Given the description of an element on the screen output the (x, y) to click on. 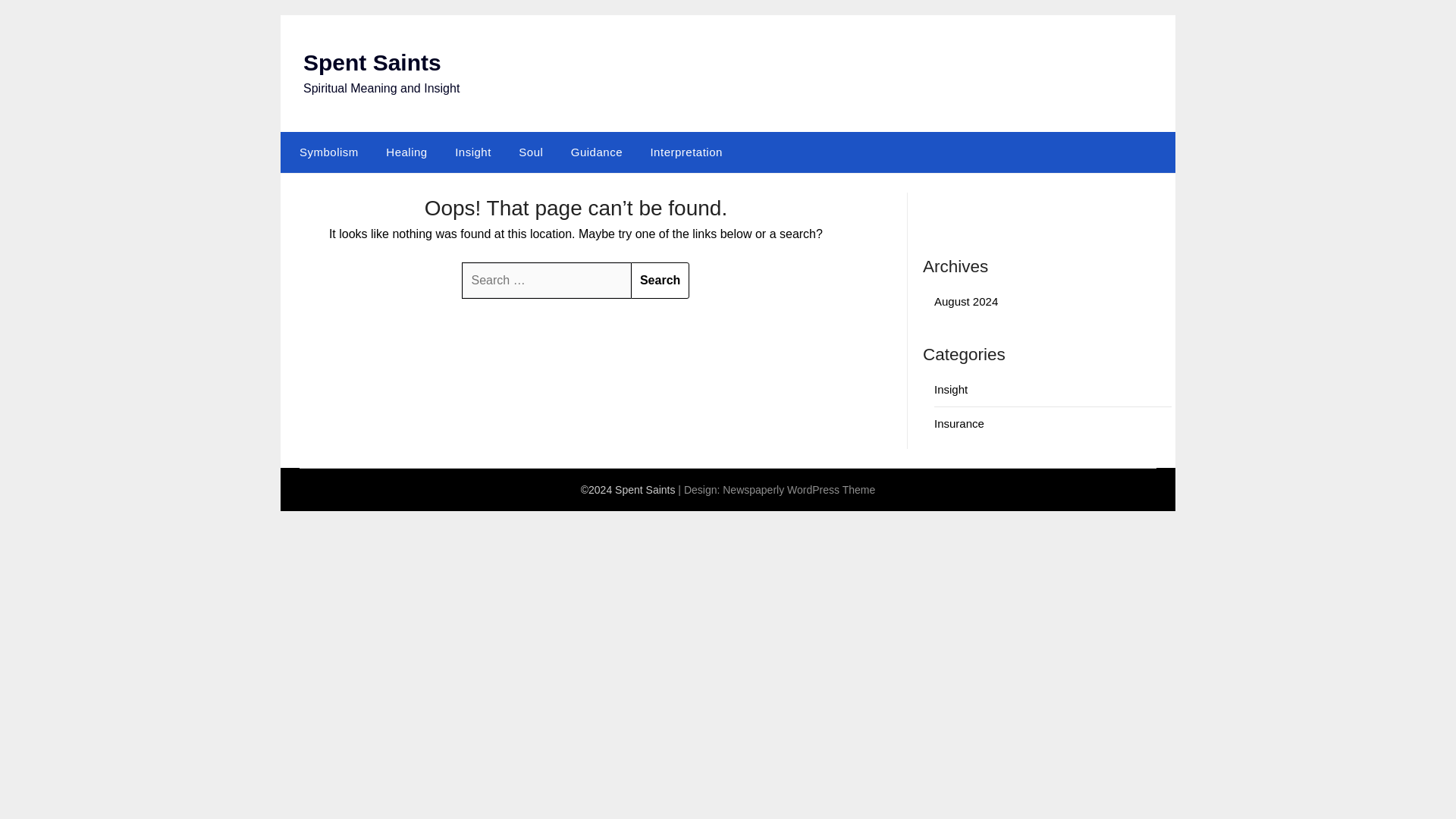
Insurance (959, 422)
Newspaperly WordPress Theme (798, 490)
Guidance (596, 151)
Healing (406, 151)
Symbolism (326, 151)
Interpretation (685, 151)
Search (659, 280)
Search (659, 280)
Spent Saints (371, 62)
Insight (951, 389)
